Given the description of an element on the screen output the (x, y) to click on. 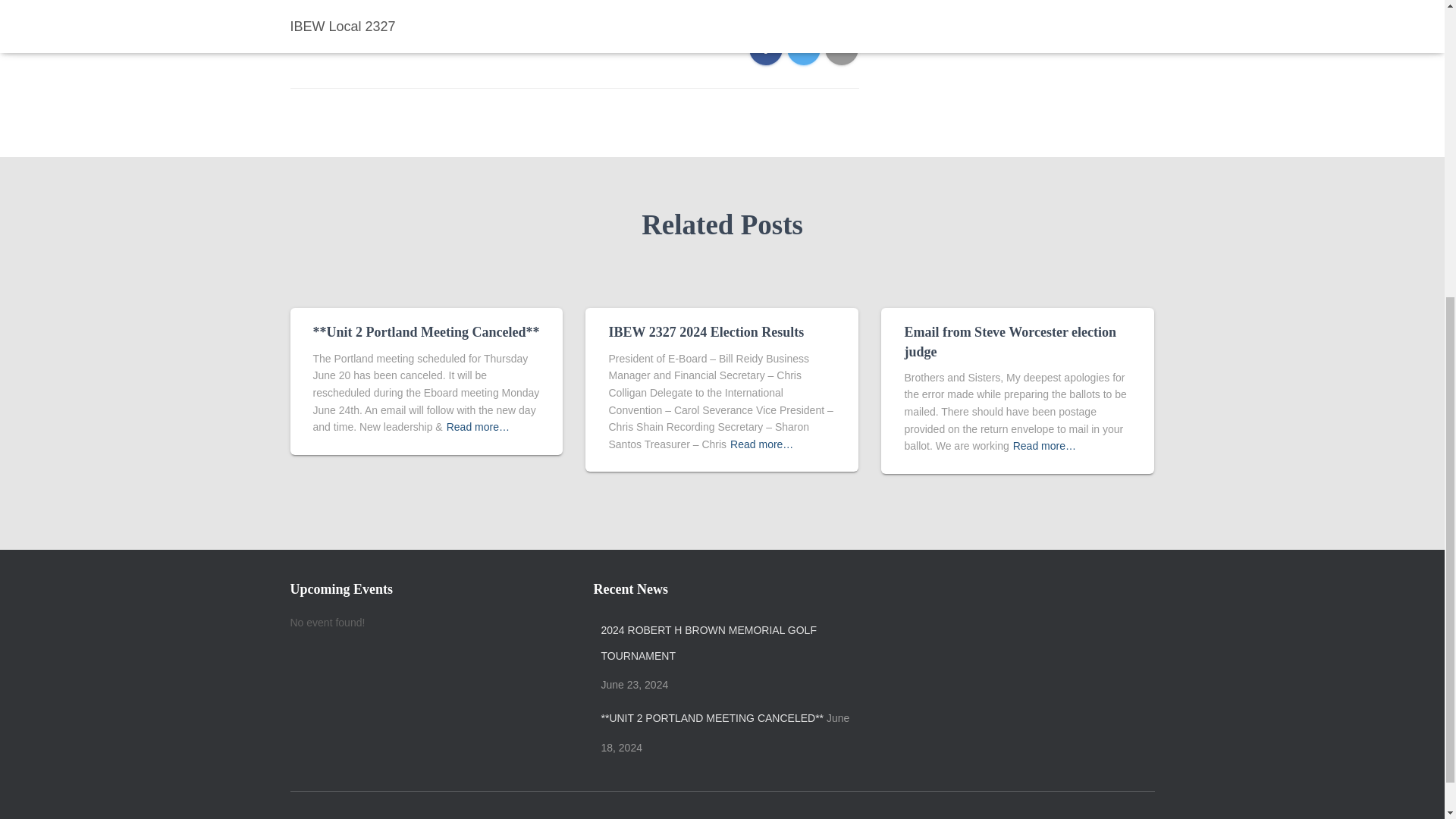
IBEW 2327 2024 Election Results (705, 331)
IBEW 2327 2024 Election Results (705, 331)
2024 ROBERT H BROWN MEMORIAL GOLF TOURNAMENT (724, 643)
Email from Steve Worcester election judge (1010, 341)
Email from Steve Worcester election judge (1010, 341)
